Given the description of an element on the screen output the (x, y) to click on. 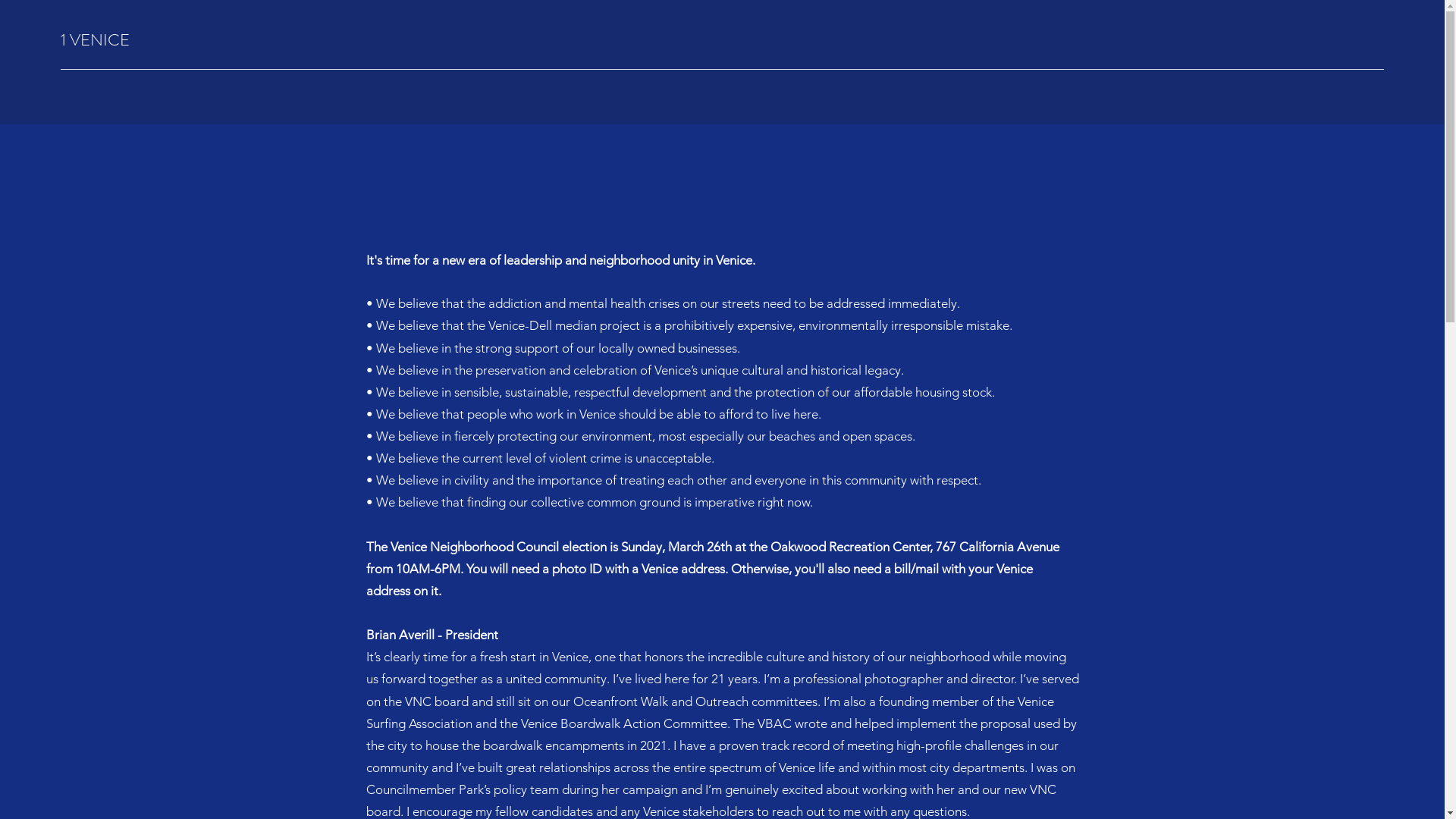
1 VENICE Element type: text (94, 39)
